Given the description of an element on the screen output the (x, y) to click on. 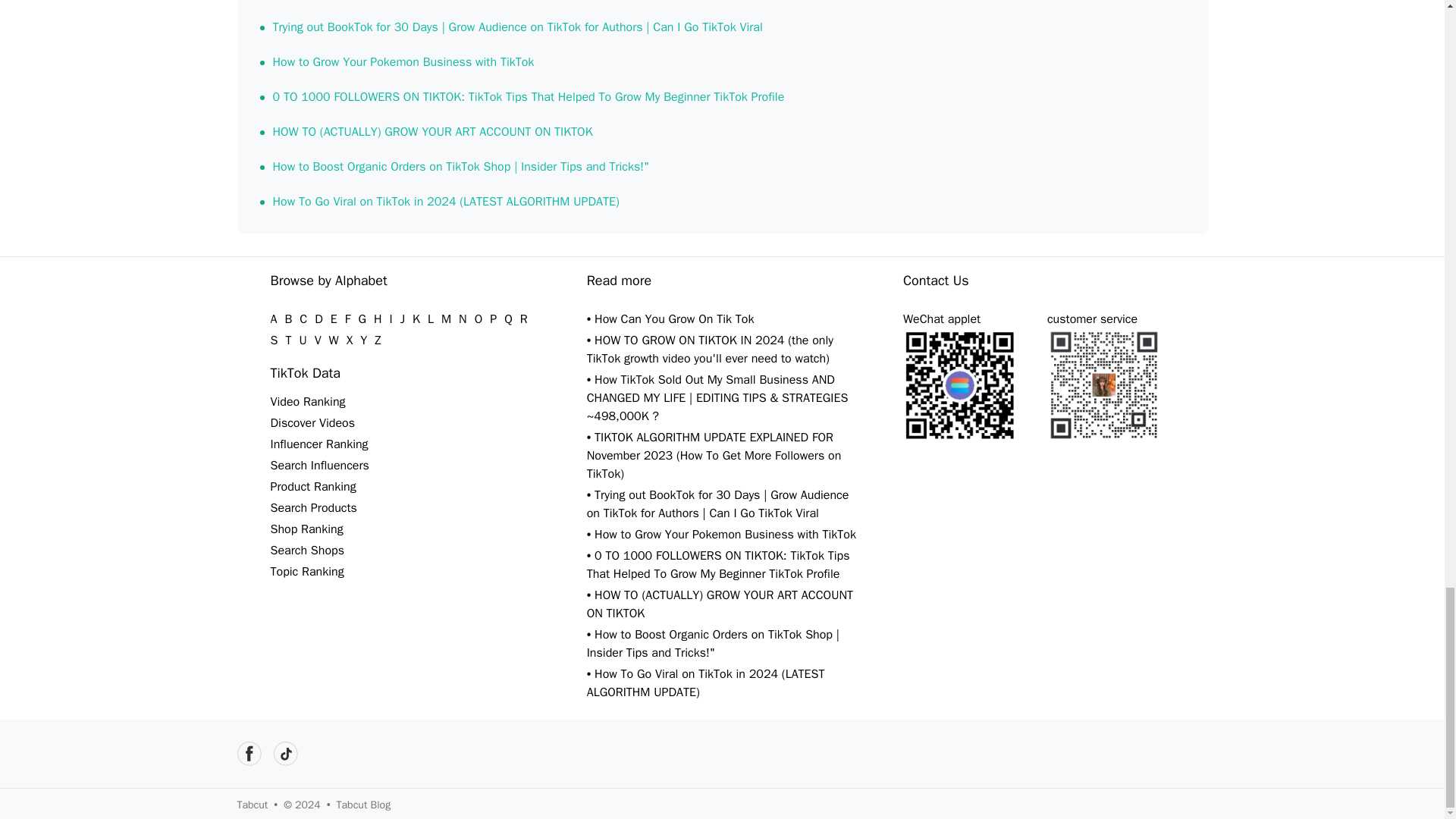
H (377, 319)
E (333, 319)
B (287, 319)
J (402, 319)
G (362, 319)
I (391, 319)
L (430, 319)
How to Grow Your Pokemon Business with TikTok (403, 61)
D (318, 319)
A (272, 319)
K (416, 319)
C (303, 319)
F (347, 319)
